Given the description of an element on the screen output the (x, y) to click on. 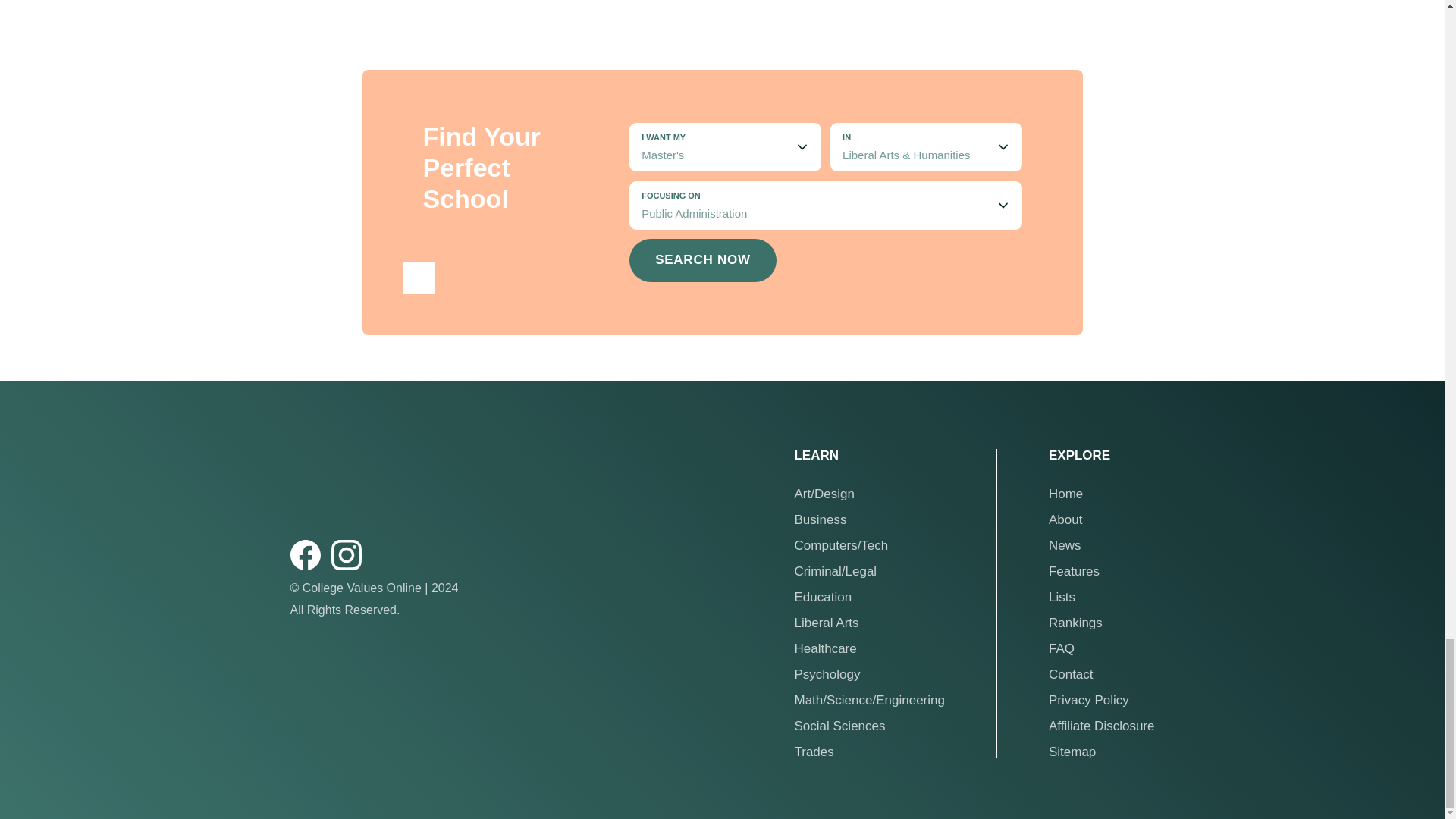
Business (868, 519)
Liberal Arts (868, 622)
Home (1101, 493)
EXPLORE (1101, 454)
SEARCH NOW (702, 260)
Education (868, 596)
Psychology (868, 674)
Healthcare (868, 648)
LEARN (868, 454)
Social Sciences (868, 725)
